Given the description of an element on the screen output the (x, y) to click on. 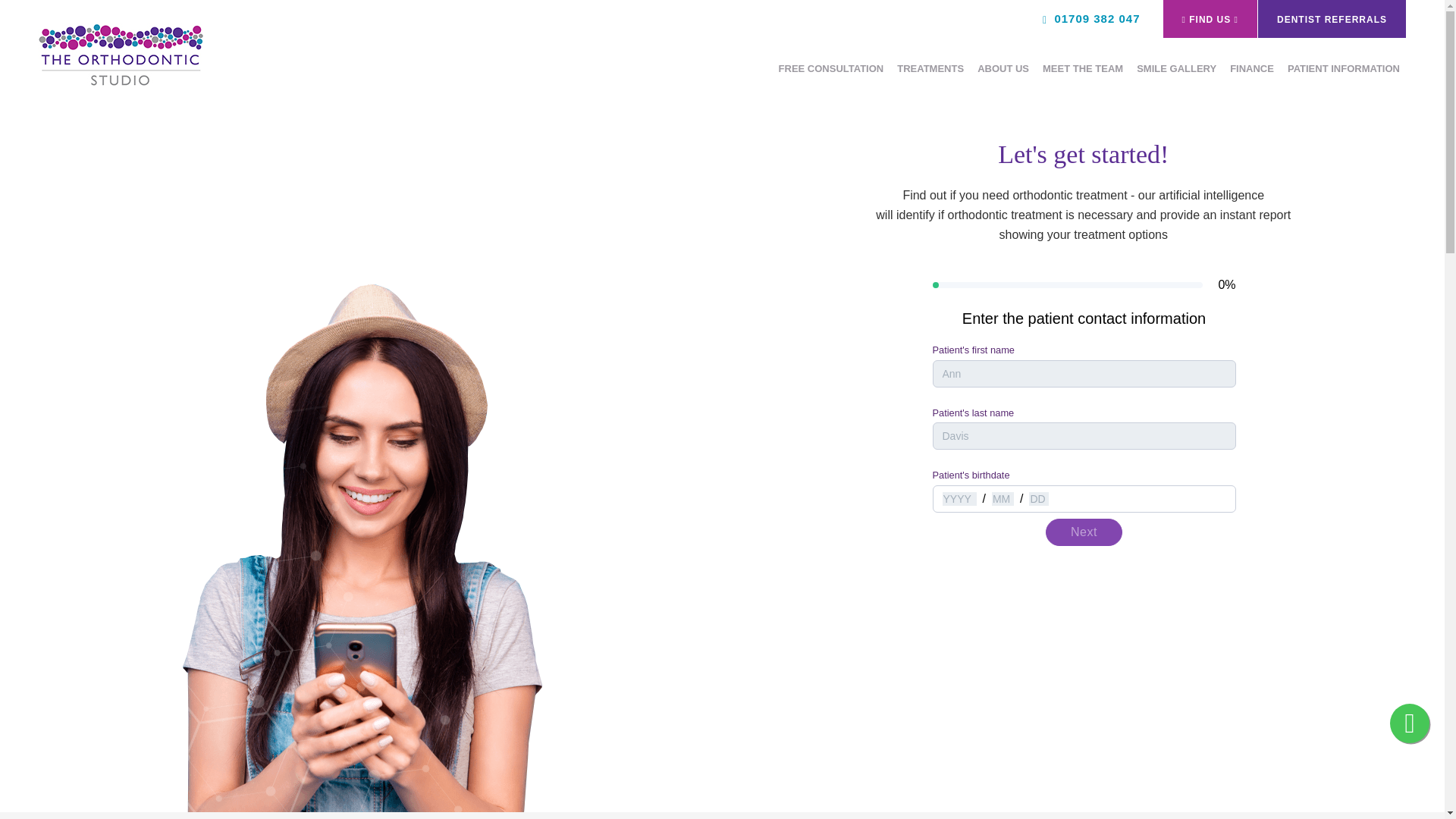
01709 382 047 (1090, 18)
FIND US (1210, 18)
Find us (1210, 18)
Dentist referrals (1331, 18)
